Given the description of an element on the screen output the (x, y) to click on. 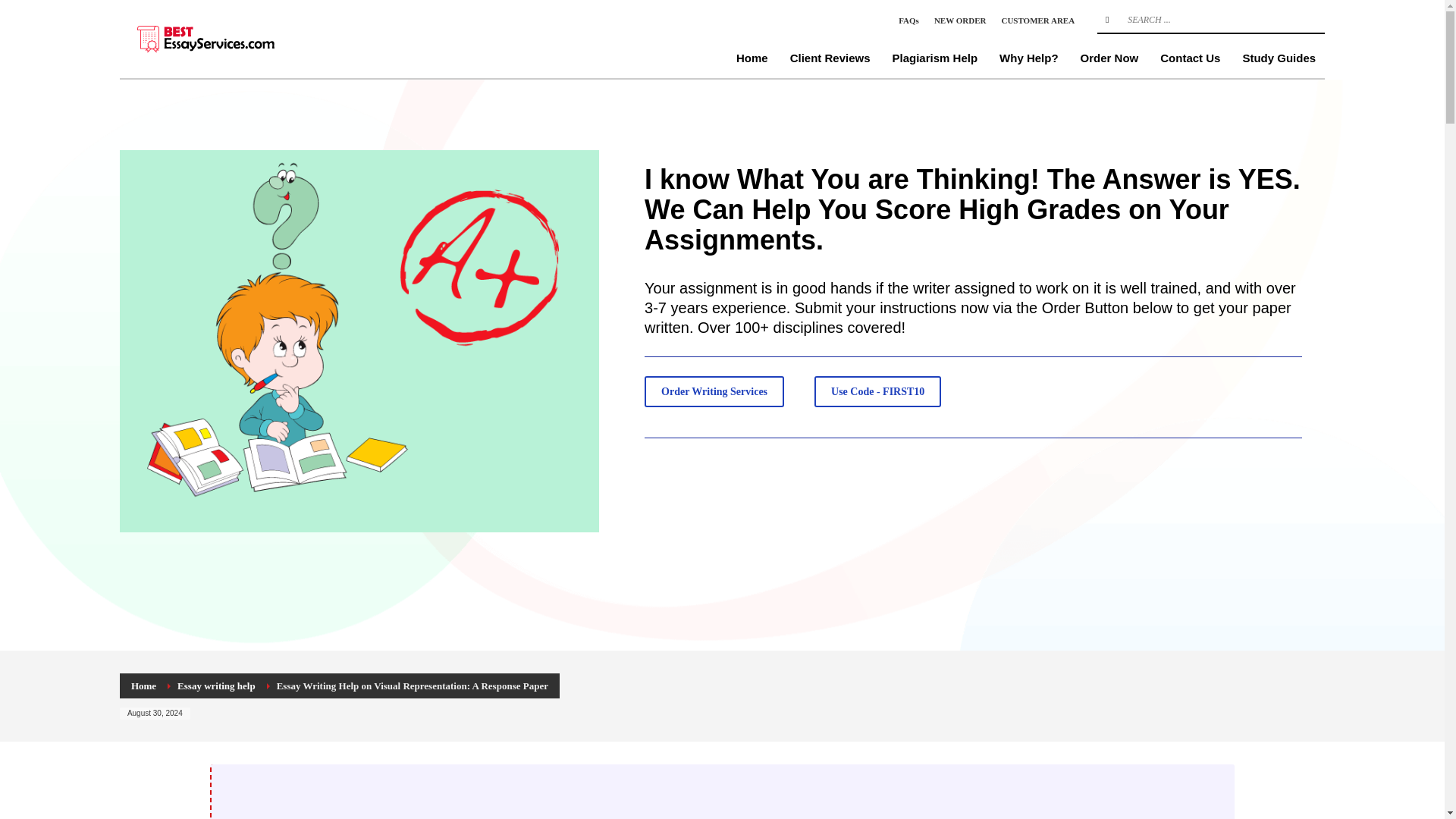
Use Code - FIRST10 (876, 391)
Order Writing Services (714, 391)
CUSTOMER AREA (1037, 20)
FAQs (908, 20)
Study Guides (1278, 57)
Essay writing help (216, 685)
Order Now (1109, 57)
Contact Us (1189, 57)
Homework Help (233, 37)
Client Reviews (829, 57)
